Given the description of an element on the screen output the (x, y) to click on. 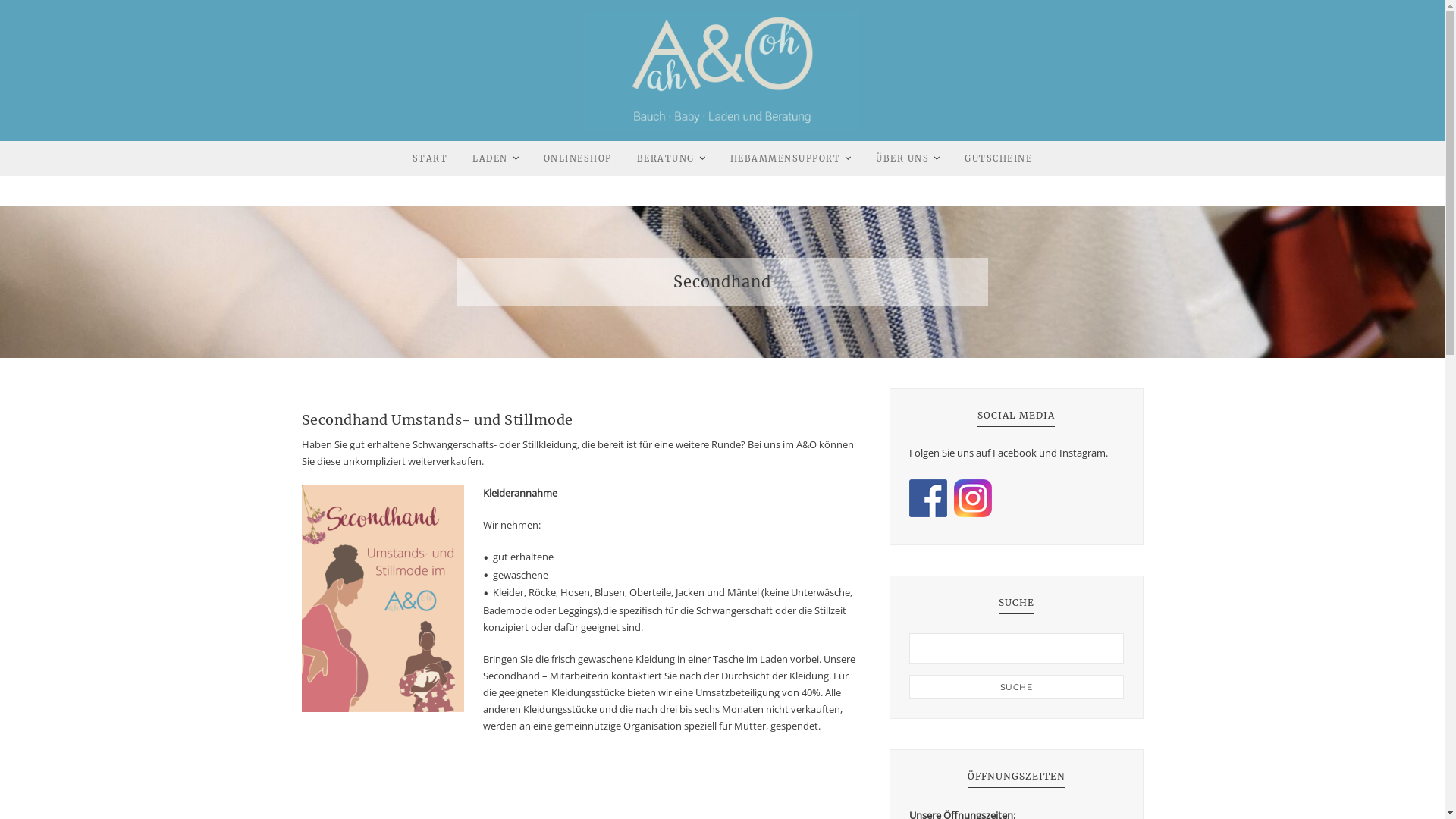
Suche Element type: text (1015, 686)
HEBAMMENSUPPORT Element type: text (785, 158)
ONLINESHOP Element type: text (577, 158)
START Element type: text (430, 158)
LADEN Element type: text (490, 158)
GUTSCHEINE Element type: text (998, 158)
BERATUNG Element type: text (665, 158)
